Given the description of an element on the screen output the (x, y) to click on. 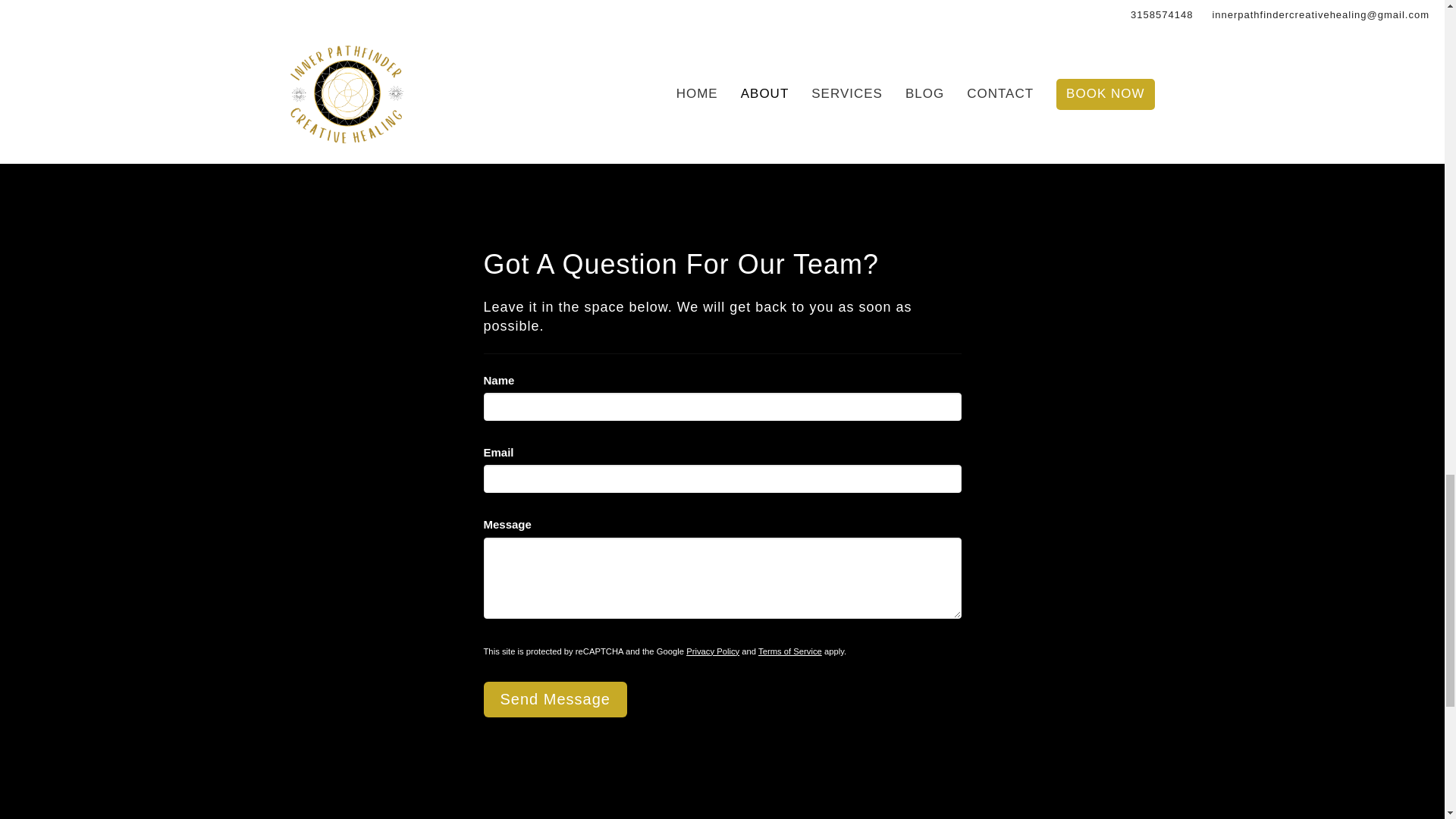
Privacy Policy (712, 651)
Send Message (555, 699)
Terms of Service (790, 651)
Send Message (555, 699)
